Given the description of an element on the screen output the (x, y) to click on. 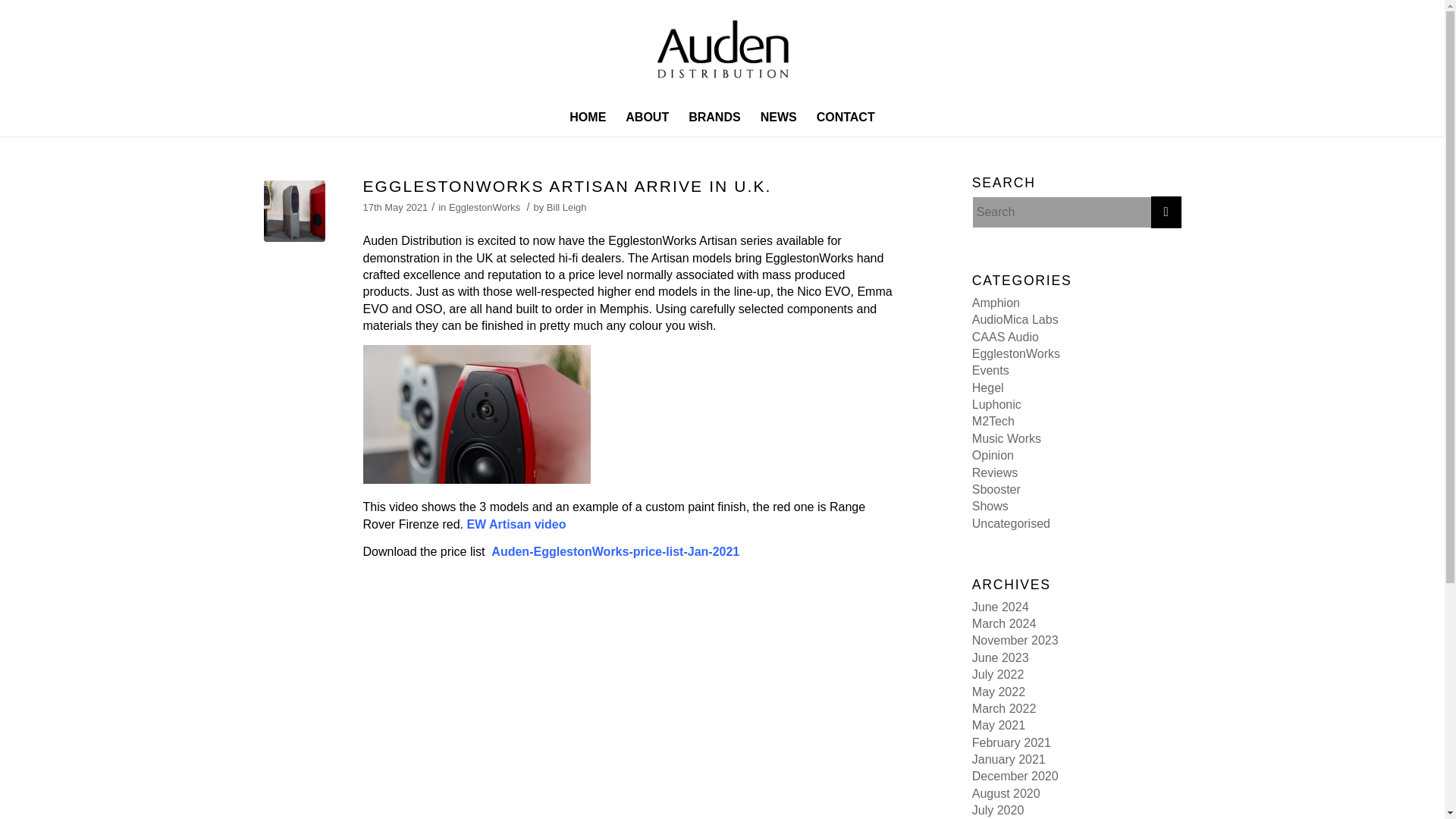
Amphion (996, 302)
Luphonic (997, 404)
CONTACT (845, 117)
PICTURE 1 (293, 210)
NEWS (778, 117)
Posts by Bill Leigh (566, 206)
Shows (990, 505)
Uncategorised (1010, 522)
AudioMica Labs (1015, 318)
EgglestonWorks (1015, 353)
